Given the description of an element on the screen output the (x, y) to click on. 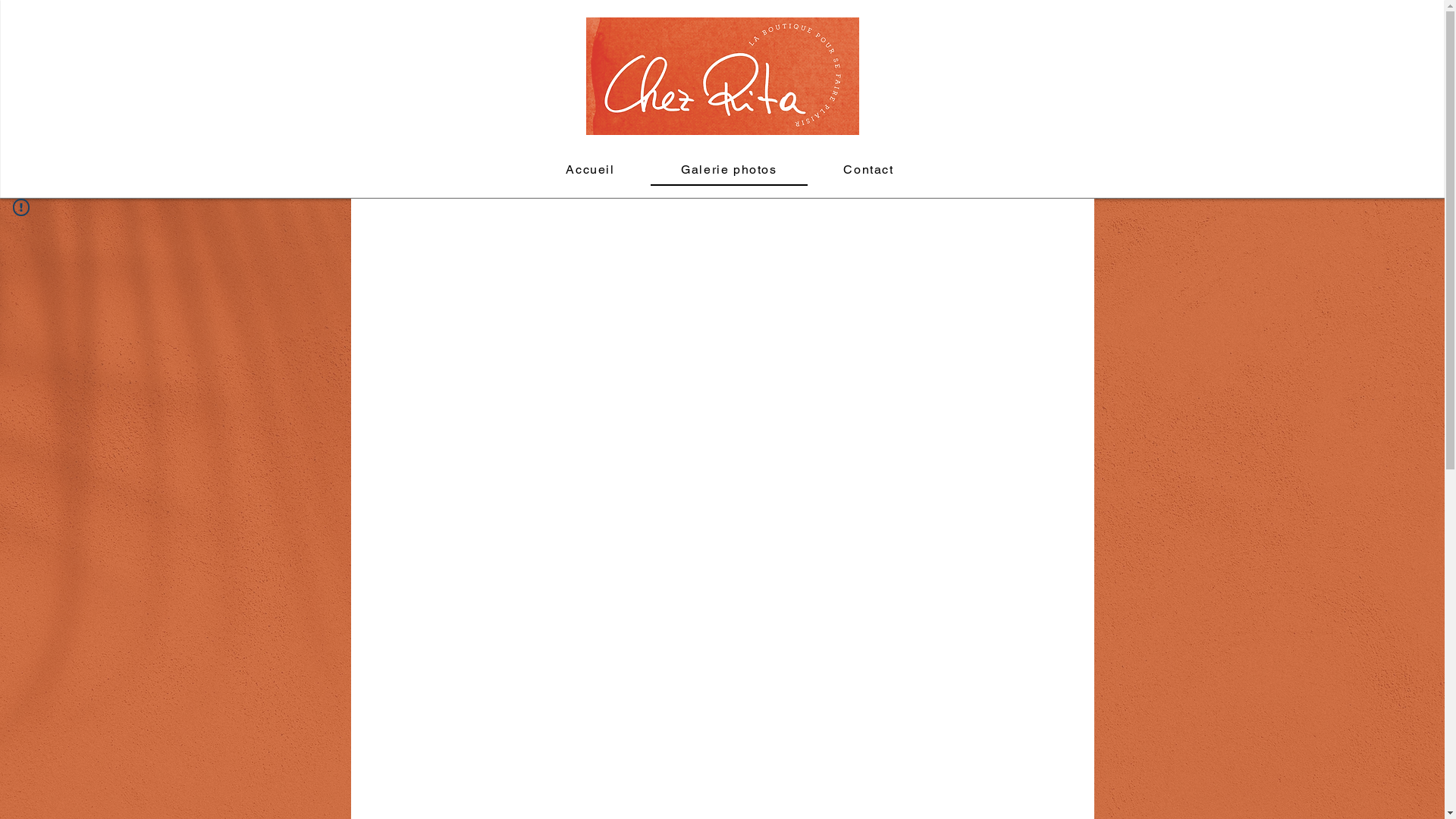
Accueil Element type: text (589, 169)
Contact Element type: text (868, 169)
Galerie photos Element type: text (728, 169)
